Given the description of an element on the screen output the (x, y) to click on. 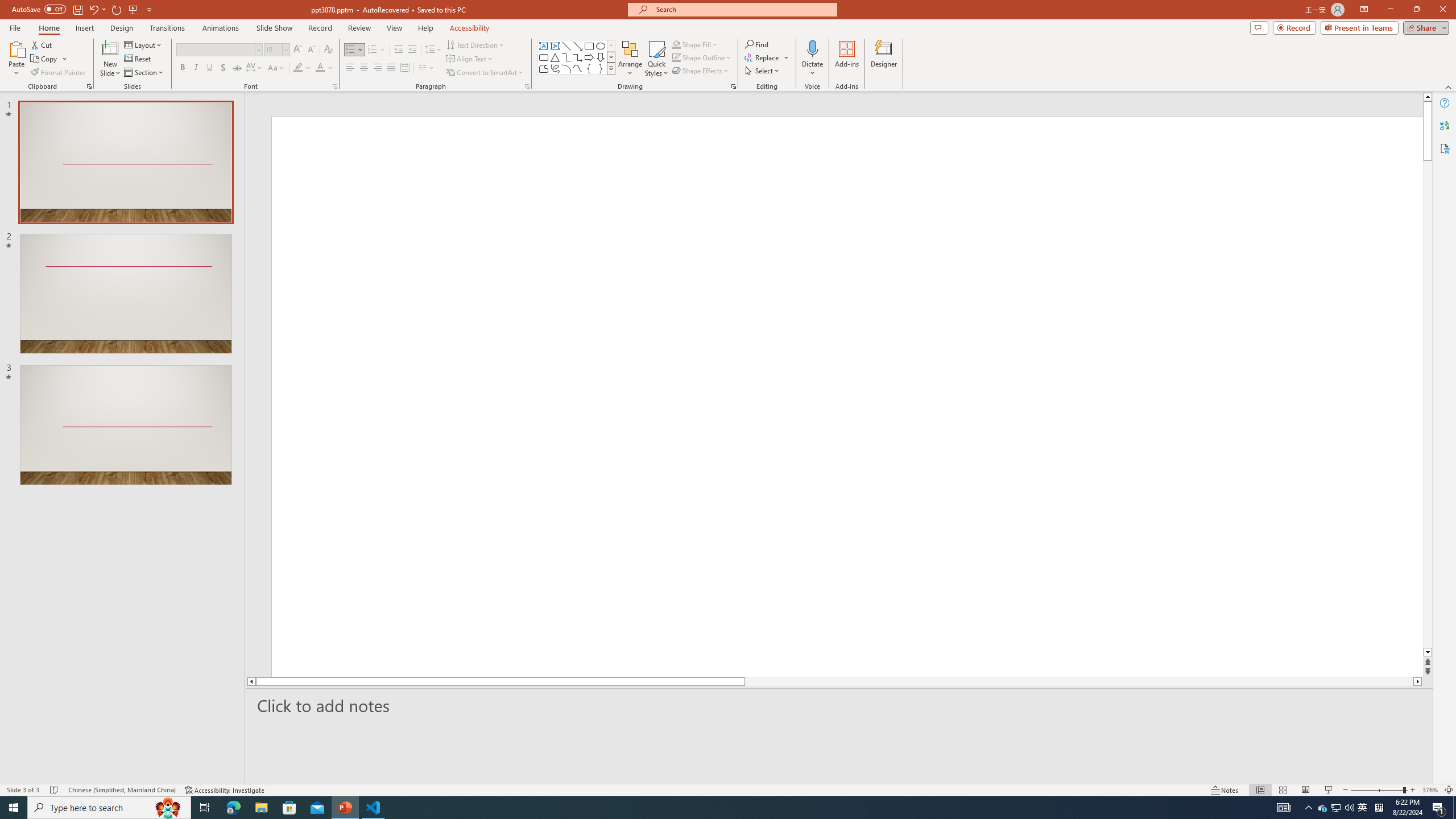
Shape Effects (700, 69)
Shape Outline Green, Accent 1 (675, 56)
Shape Fill Dark Green, Accent 2 (675, 44)
